Given the description of an element on the screen output the (x, y) to click on. 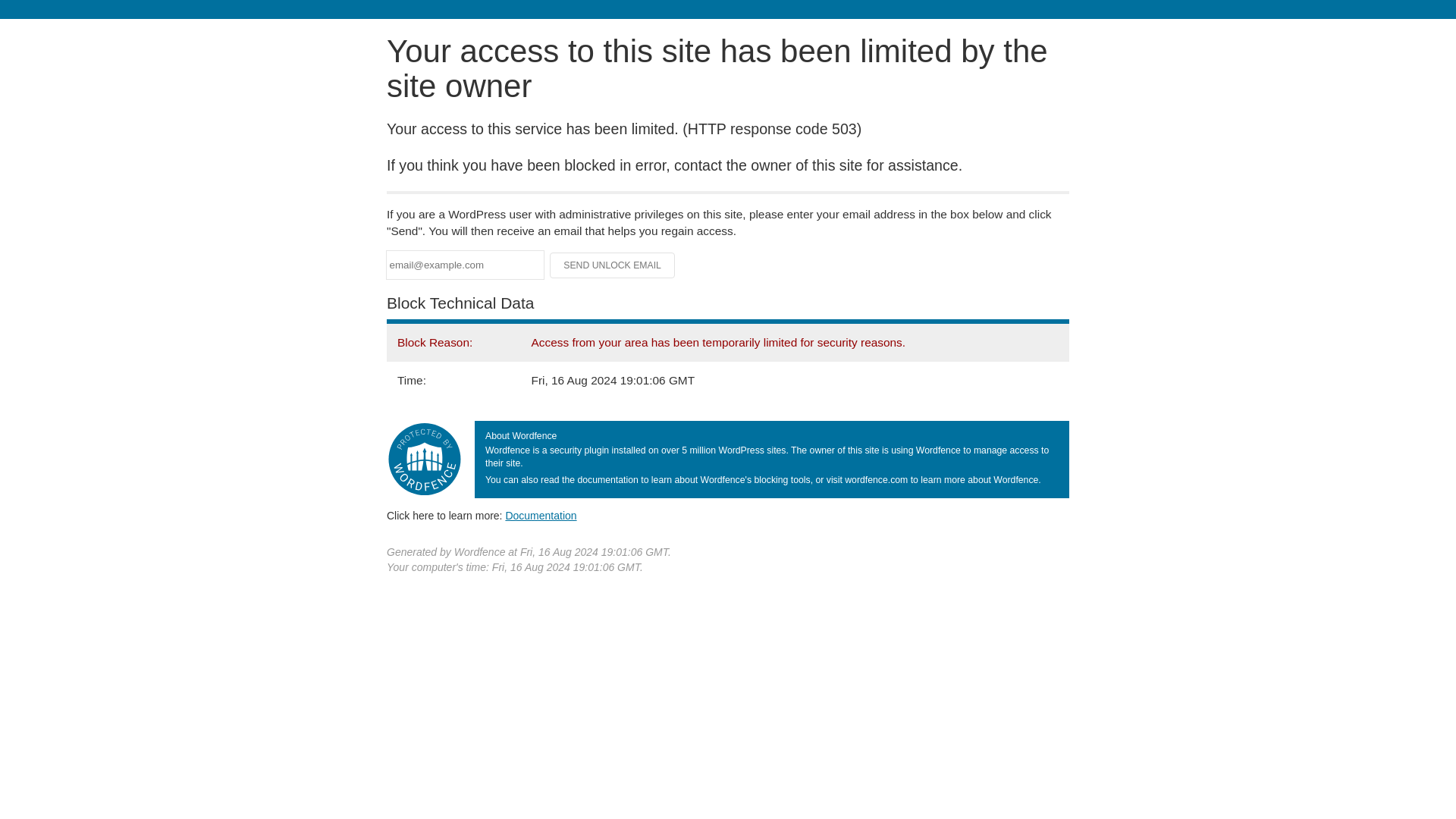
Send Unlock Email (612, 265)
Send Unlock Email (612, 265)
Documentation (540, 515)
